Given the description of an element on the screen output the (x, y) to click on. 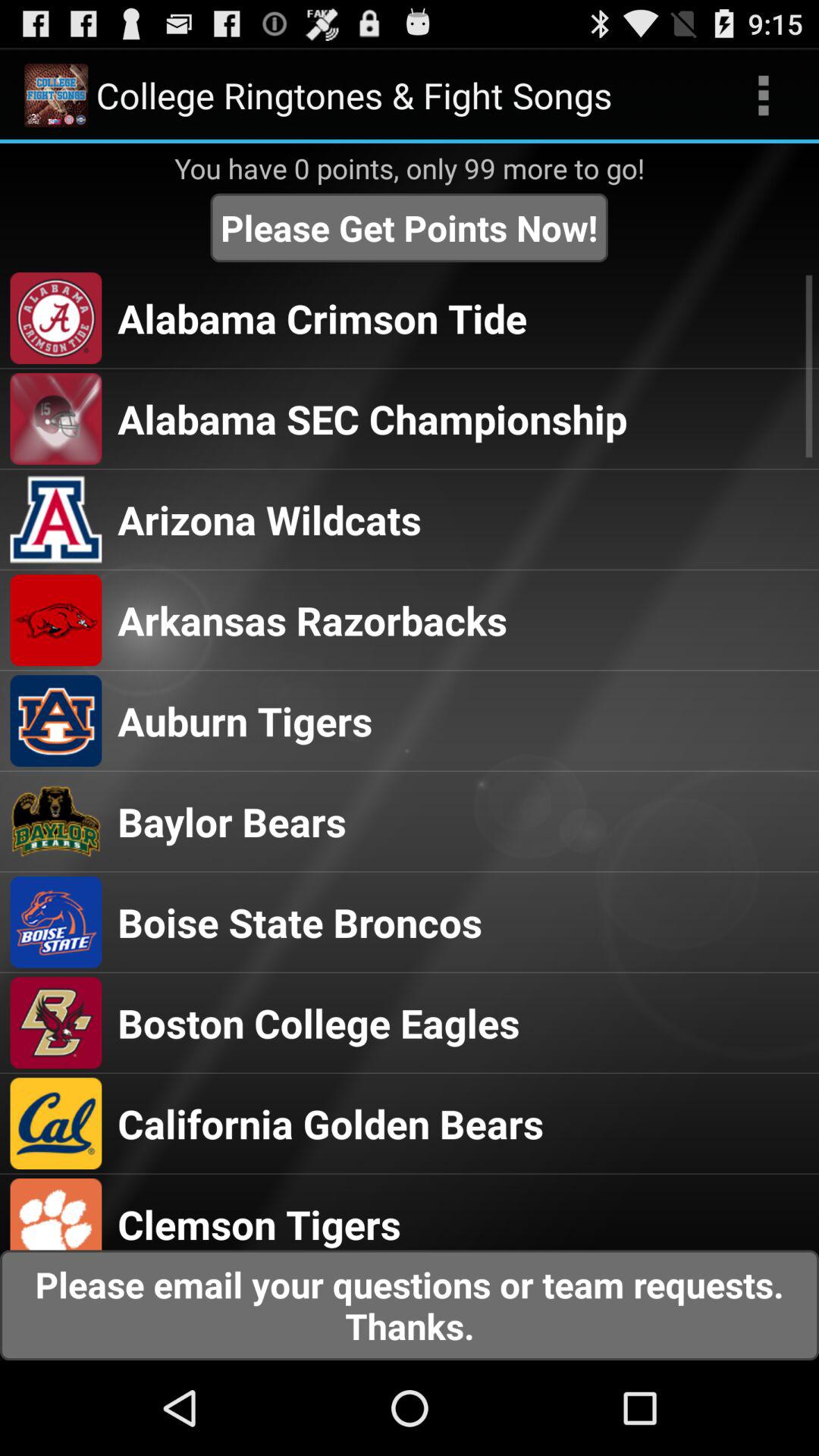
choose the arizona wildcats app (269, 519)
